Given the description of an element on the screen output the (x, y) to click on. 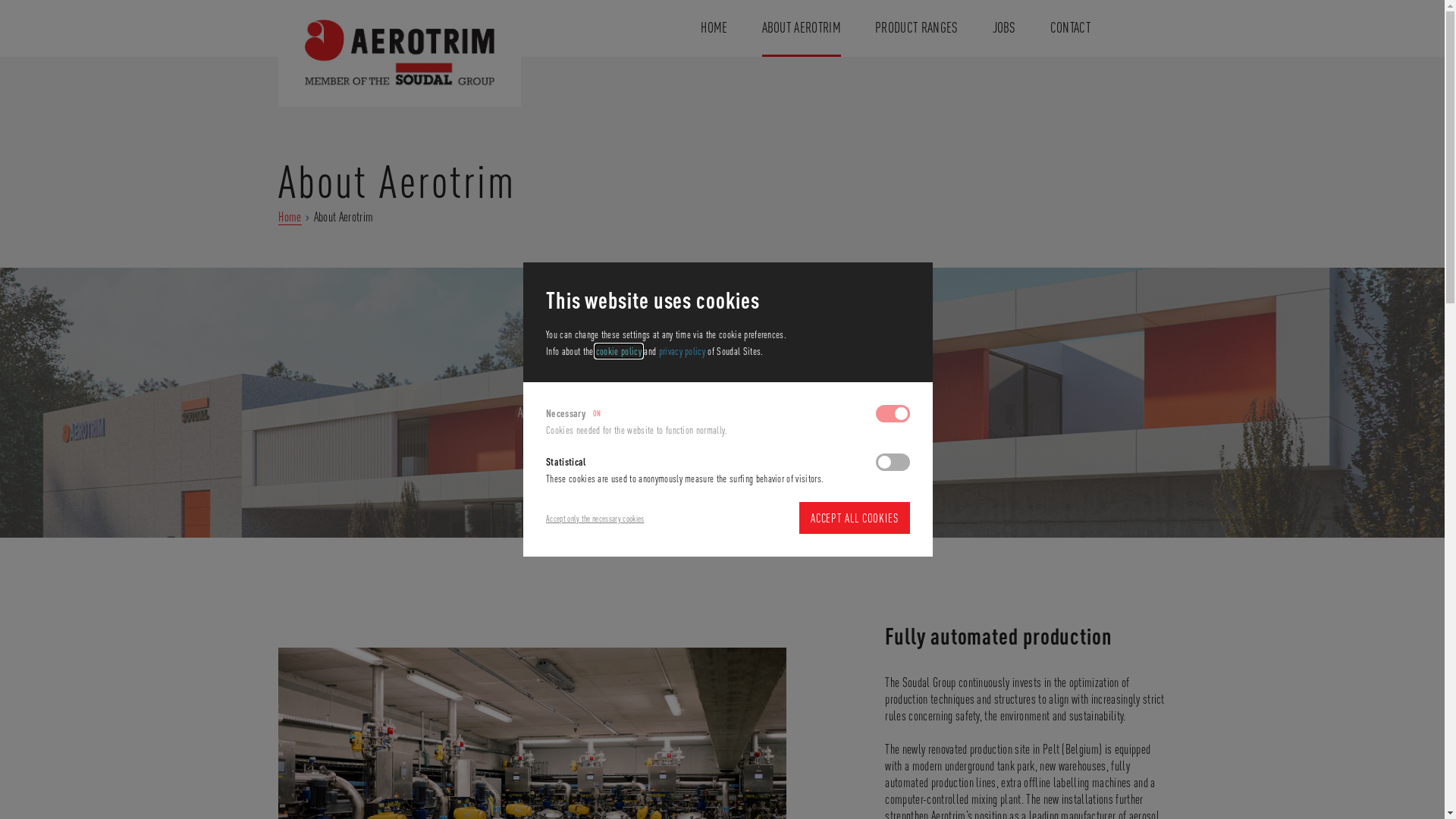
Home Element type: hover (399, 47)
Skip to main content Element type: text (0, 0)
Accept only the necessary cookies Element type: text (595, 518)
Soudal Sites Element type: text (304, 94)
cookie policy Element type: text (618, 351)
CONTACT Element type: text (1070, 28)
ACCEPT ALL COOKIES Element type: text (854, 517)
Home Element type: text (289, 217)
JOBS Element type: text (1003, 28)
HOME Element type: text (713, 28)
ABOUT AEROTRIM Element type: text (801, 28)
privacy policy Element type: text (681, 351)
PRODUCT RANGES Element type: text (916, 28)
